Given the description of an element on the screen output the (x, y) to click on. 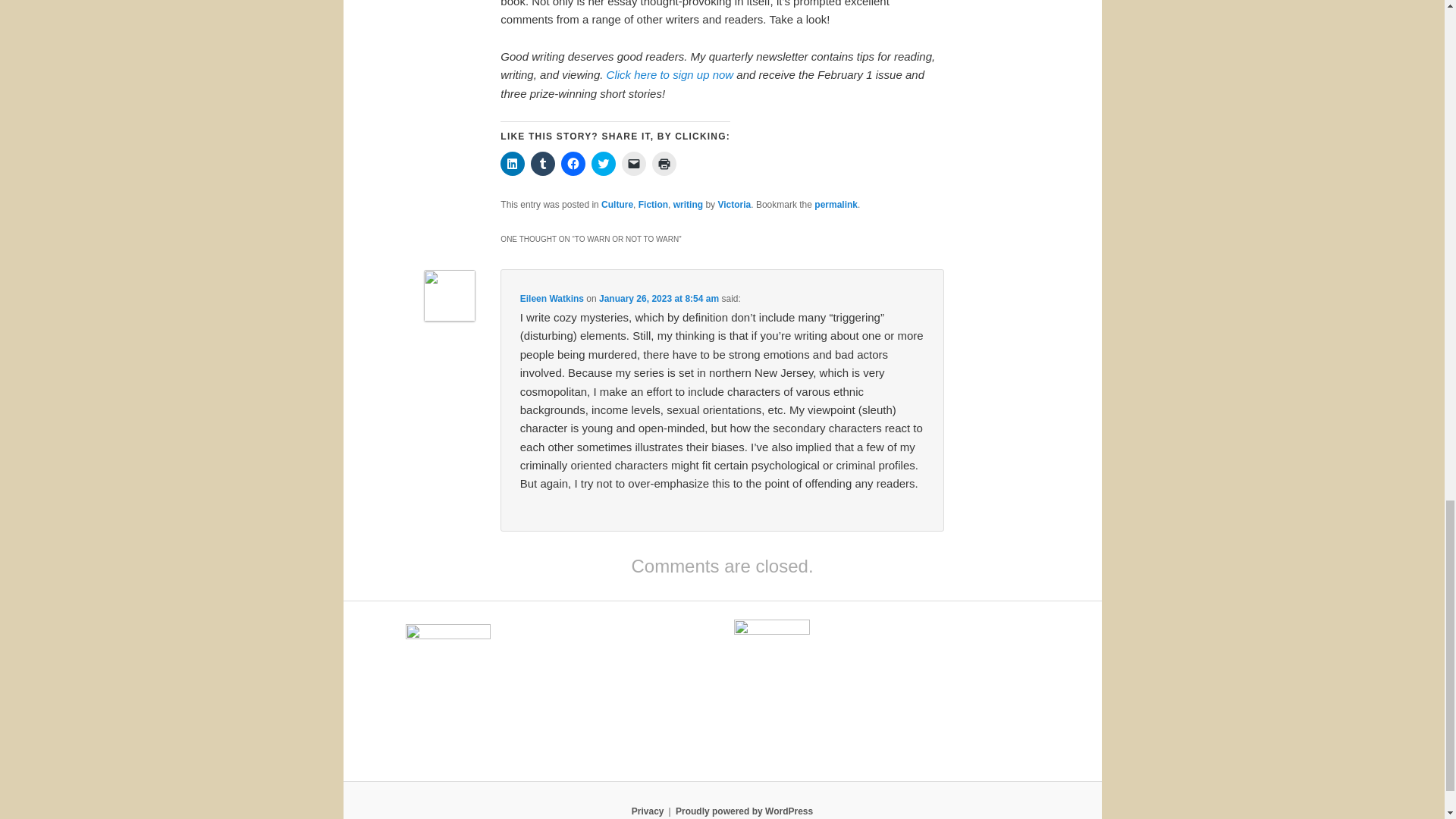
Culture (617, 204)
Click to share on Twitter (603, 163)
Victoria (734, 204)
Semantic Personal Publishing Platform (743, 810)
Click to share on Tumblr (542, 163)
Click to email a link to a friend (633, 163)
Permalink to To Warn or Not To Warn (835, 204)
Proudly powered by WordPress (743, 810)
Privacy (647, 810)
writing (687, 204)
